Given the description of an element on the screen output the (x, y) to click on. 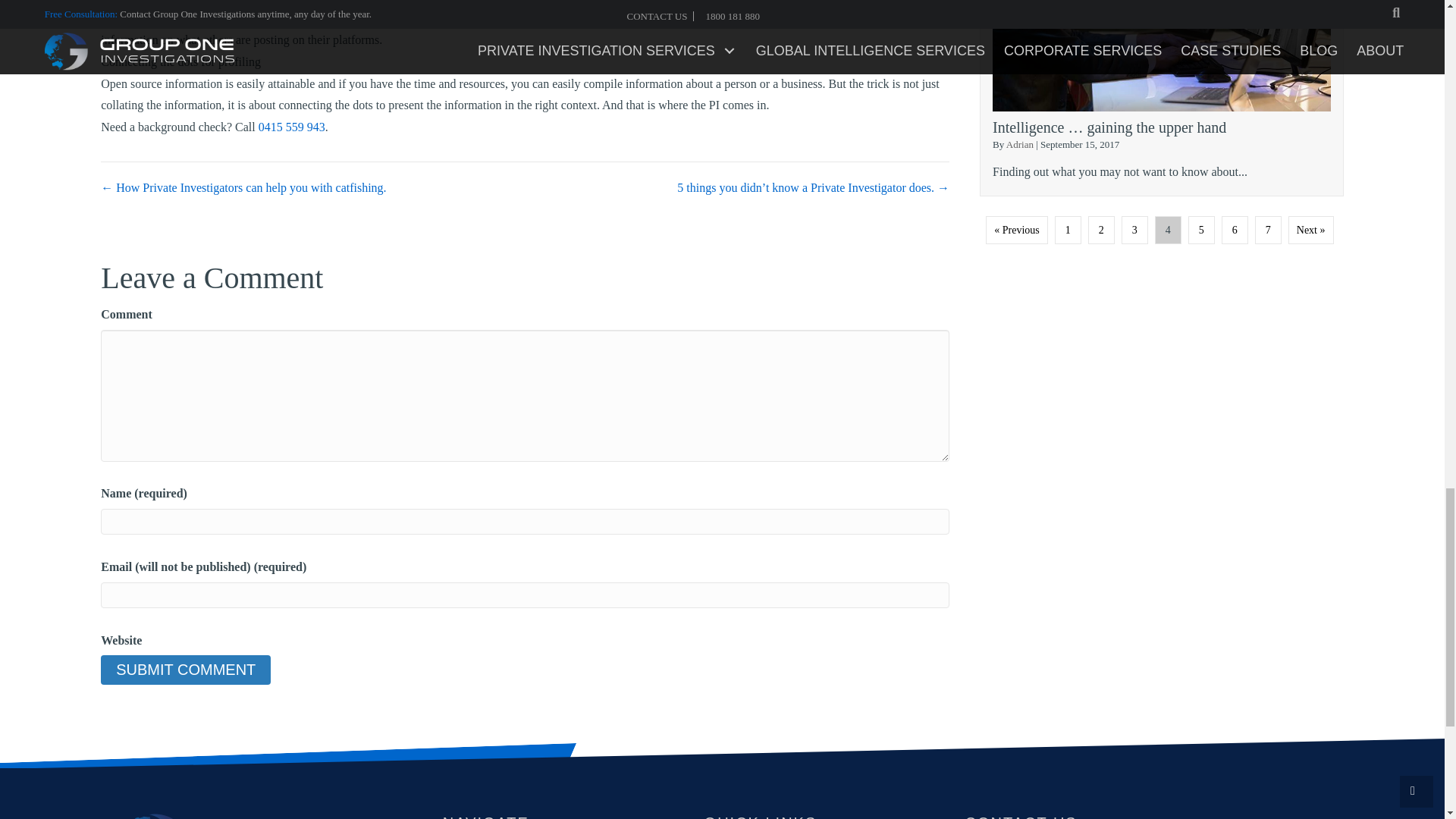
logo (256, 816)
intelligence-gaining-the-upper-hand (1161, 55)
Submit Comment (185, 669)
